Given the description of an element on the screen output the (x, y) to click on. 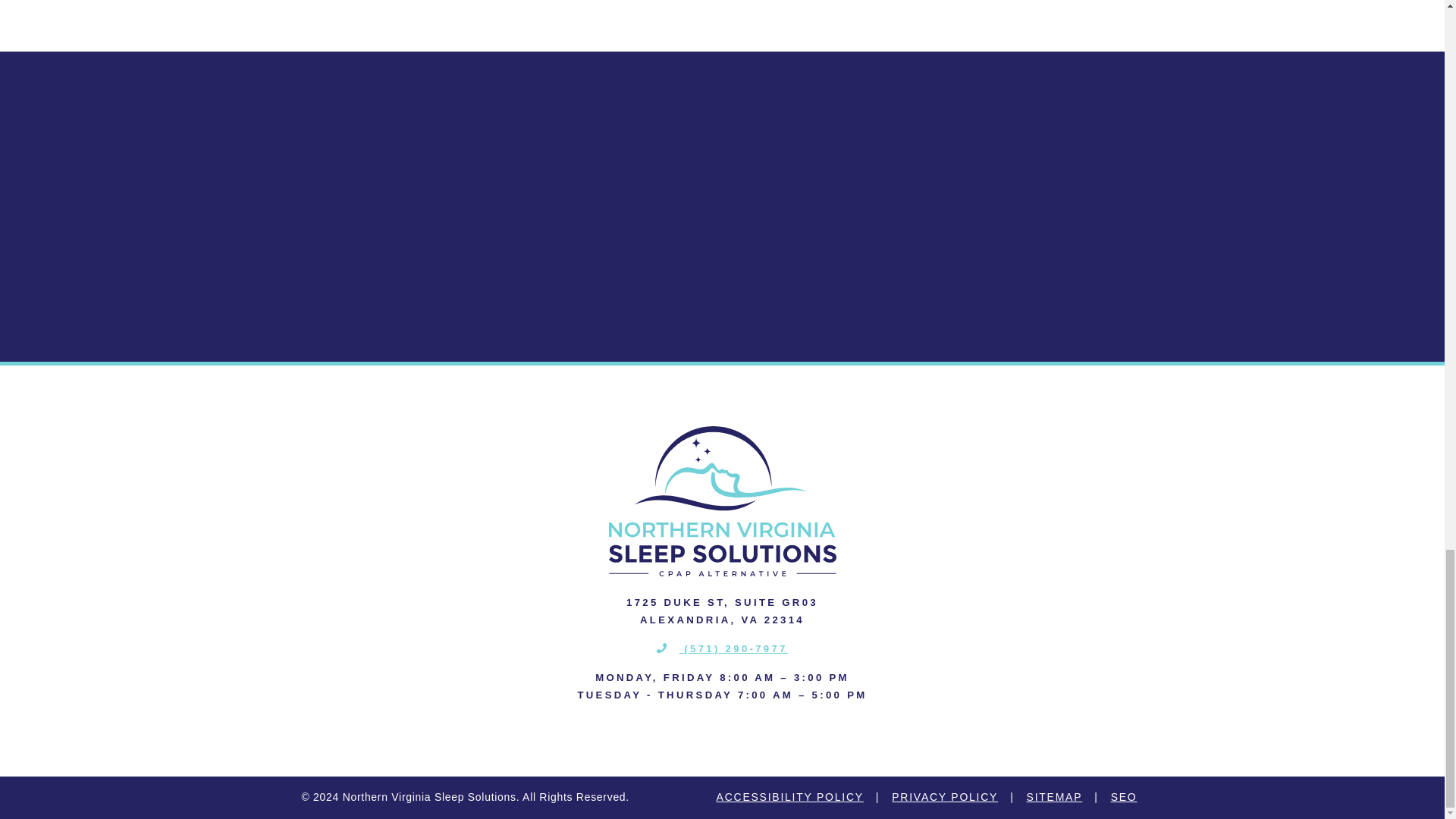
ACCESSIBILITY POLICY (789, 797)
SEO (1123, 797)
PRIVACY POLICY (944, 797)
SITEMAP (1054, 797)
SKIP FOOTER (19, 58)
Digital Marketing SEO Agency (1123, 797)
